Given the description of an element on the screen output the (x, y) to click on. 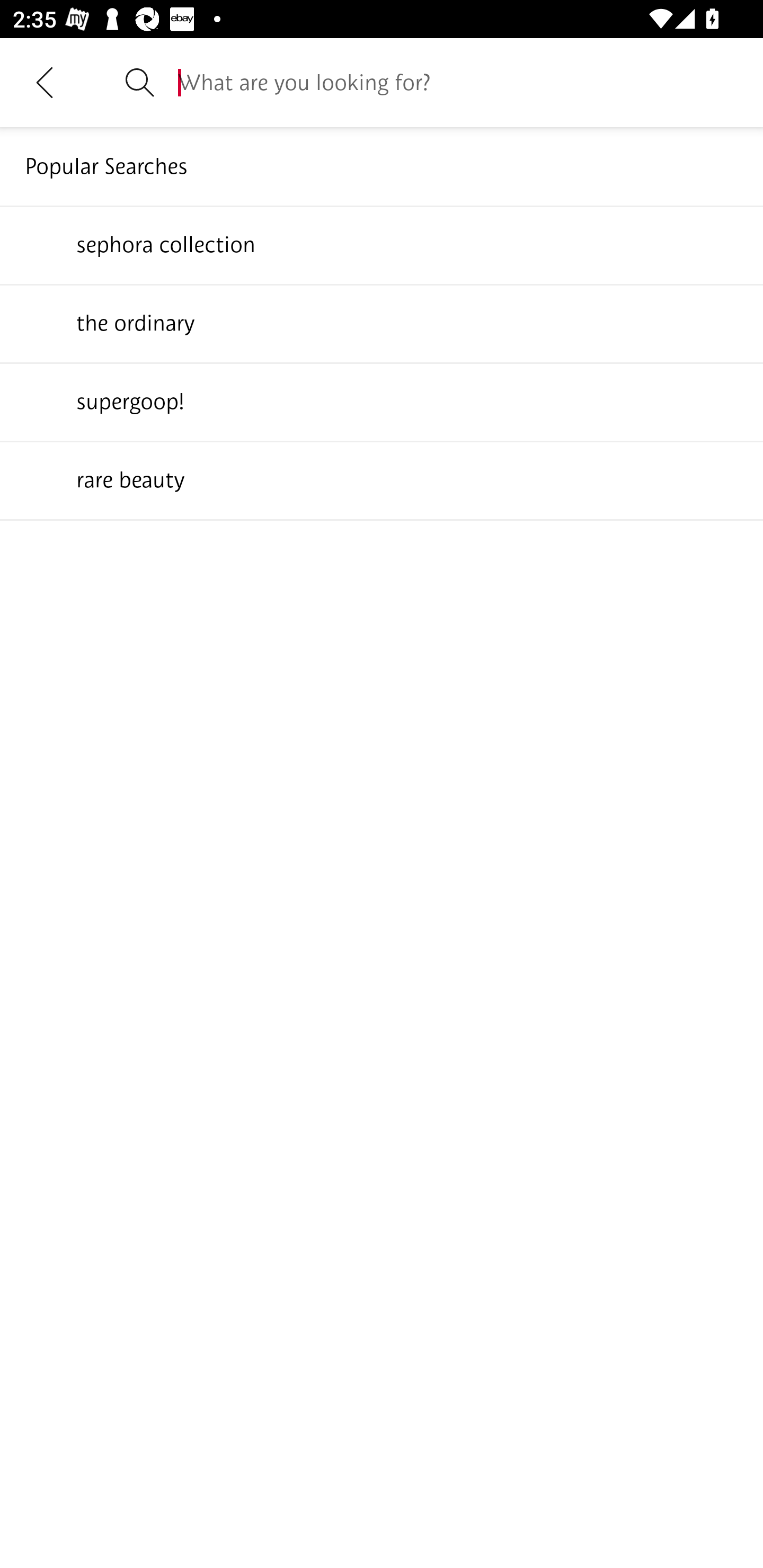
Navigate up (44, 82)
What are you looking for? (457, 82)
sephora collection (381, 244)
the ordinary (381, 322)
supergoop! (381, 401)
rare beauty (381, 479)
